Given the description of an element on the screen output the (x, y) to click on. 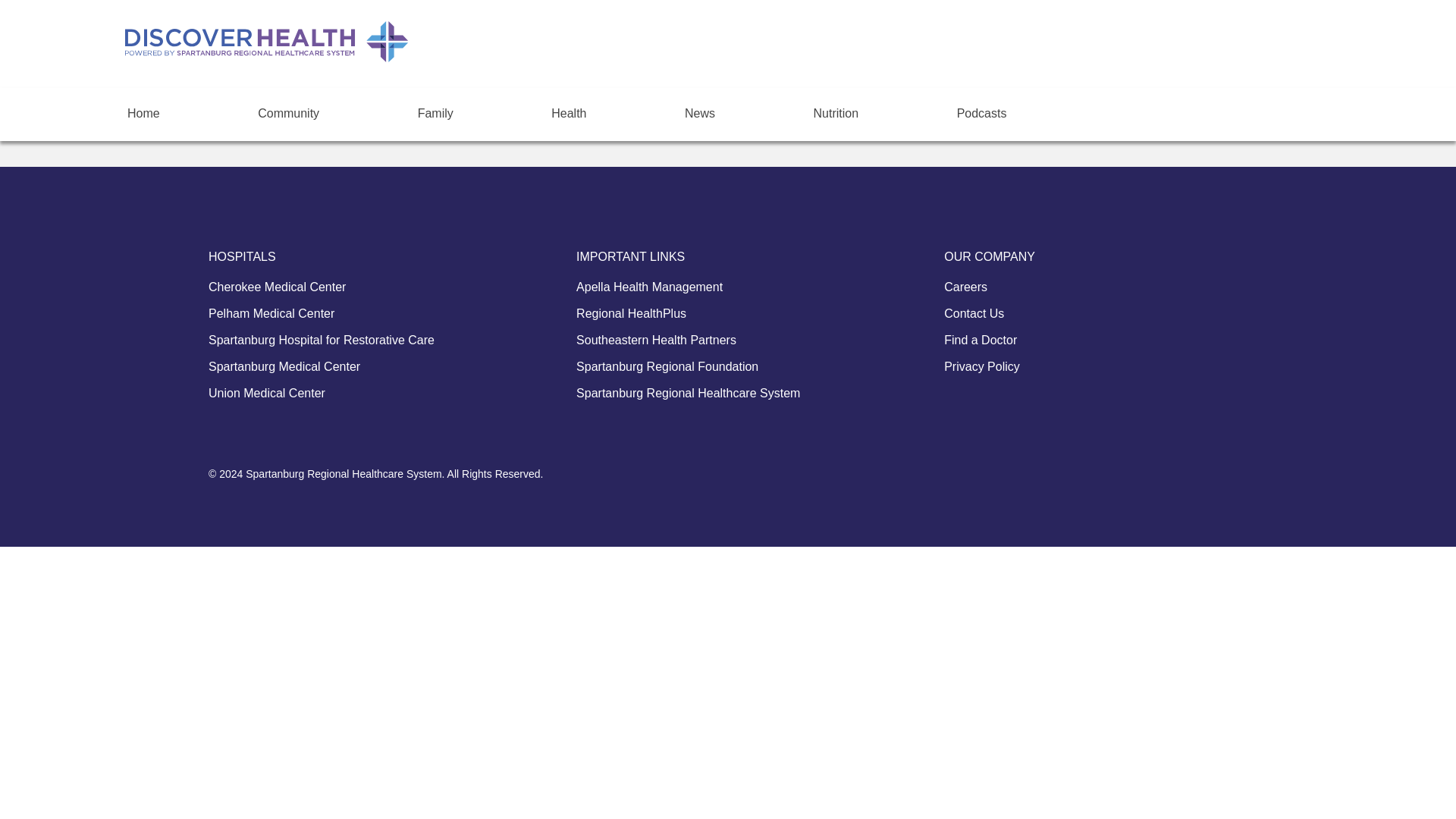
Spartanburg Medical Center (283, 367)
Union Medical Center (266, 393)
Privacy Policy (981, 367)
Contact Us (973, 314)
Community (287, 109)
Home (144, 109)
Southeastern Health Partners (656, 340)
Cherokee Medical Center (277, 287)
Spartanburg Regional Foundation (667, 367)
